Given the description of an element on the screen output the (x, y) to click on. 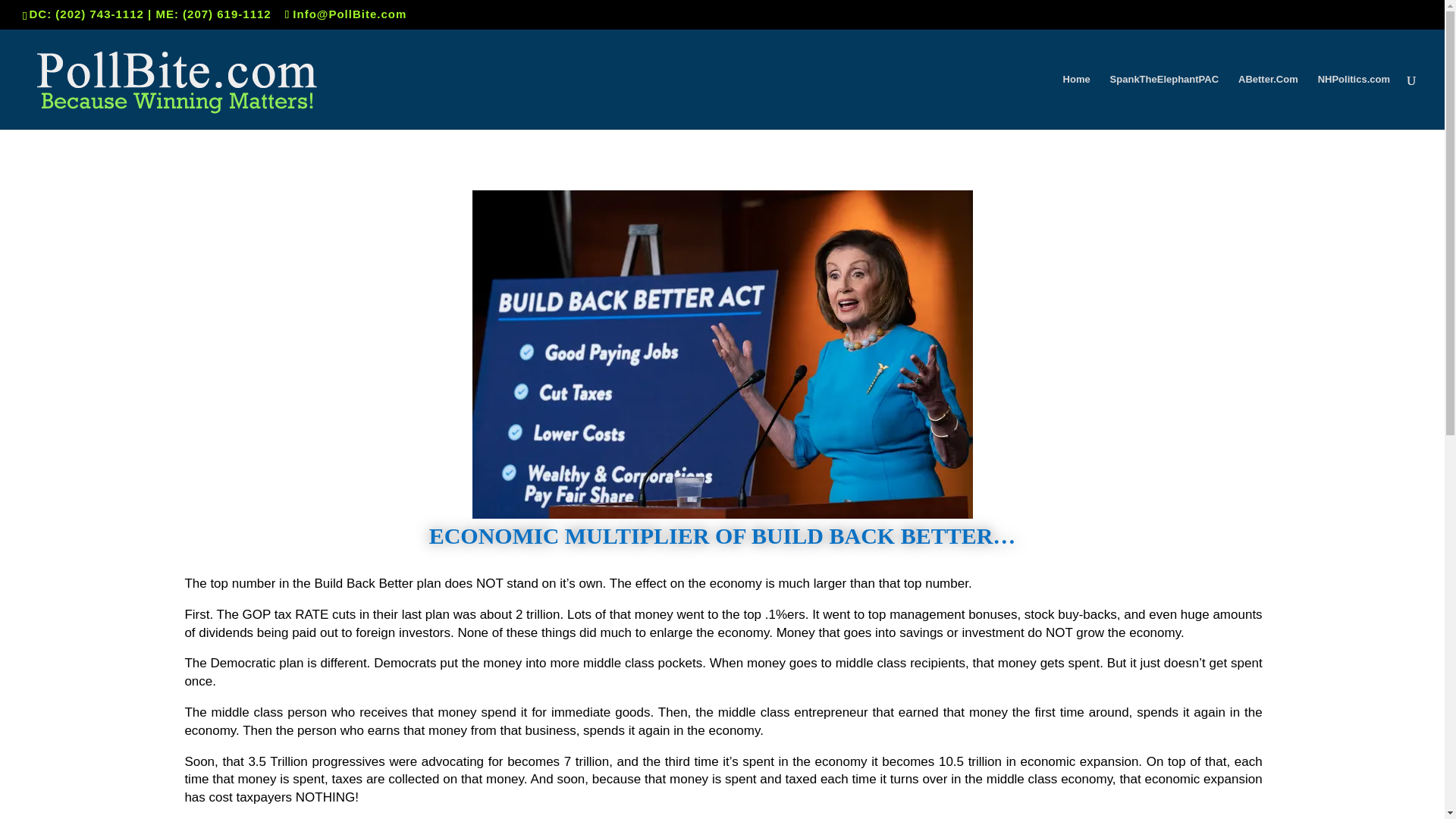
NHPolitics.com (1353, 101)
SpankTheElephantPAC (1164, 101)
ABetter.Com (1268, 101)
